Given the description of an element on the screen output the (x, y) to click on. 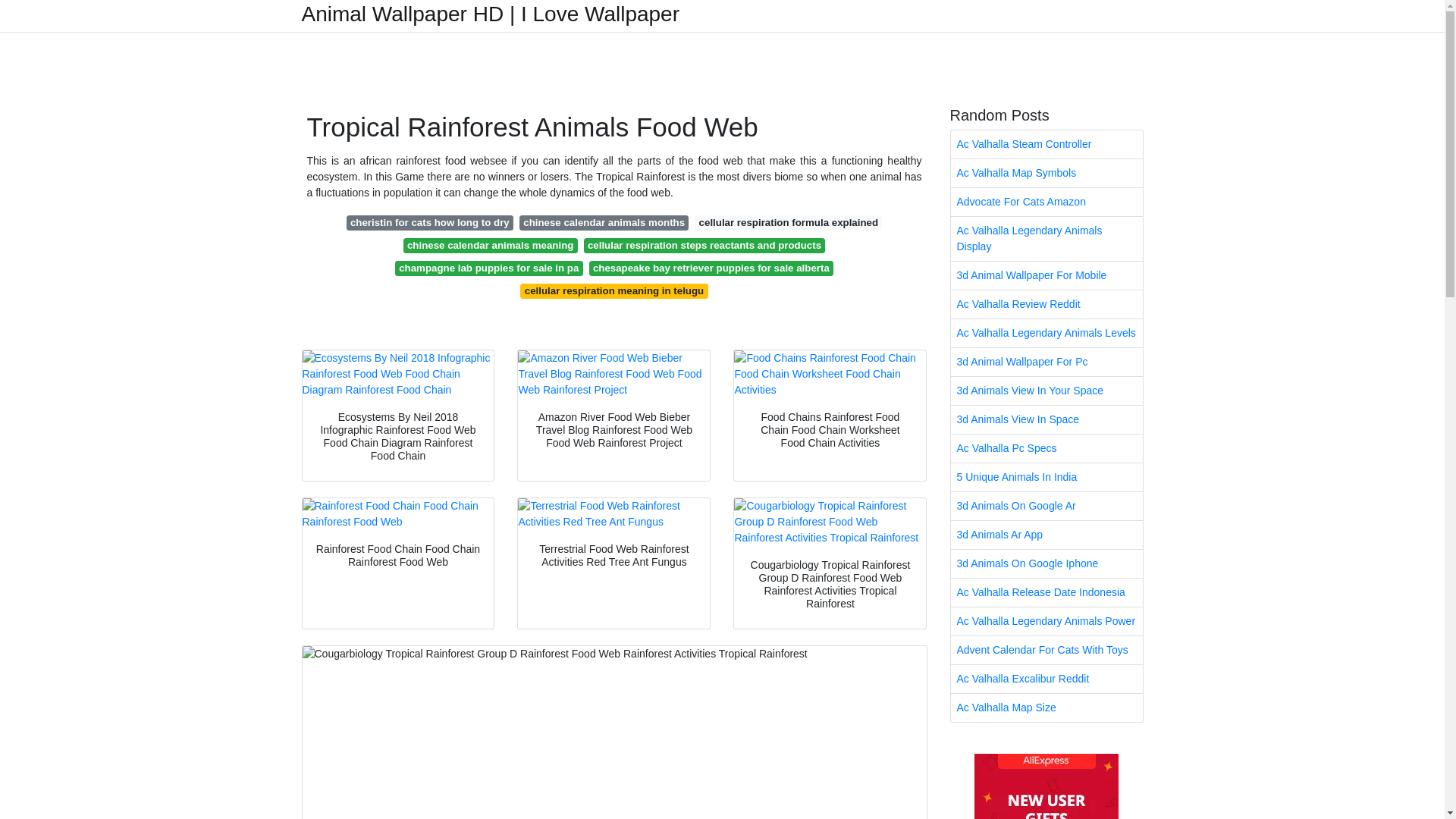
cellular respiration formula explained (788, 222)
cellular respiration steps reactants and products (704, 245)
cellular respiration meaning in telugu (613, 290)
chinese calendar animals months (603, 222)
Ac Valhalla Review Reddit (1046, 304)
cheristin for cats how long to dry (429, 222)
3d Animal Wallpaper For Mobile (1046, 275)
3d Animals View In Your Space (1046, 390)
Ac Valhalla Steam Controller (1046, 144)
Ac Valhalla Map Symbols (1046, 172)
